Given the description of an element on the screen output the (x, y) to click on. 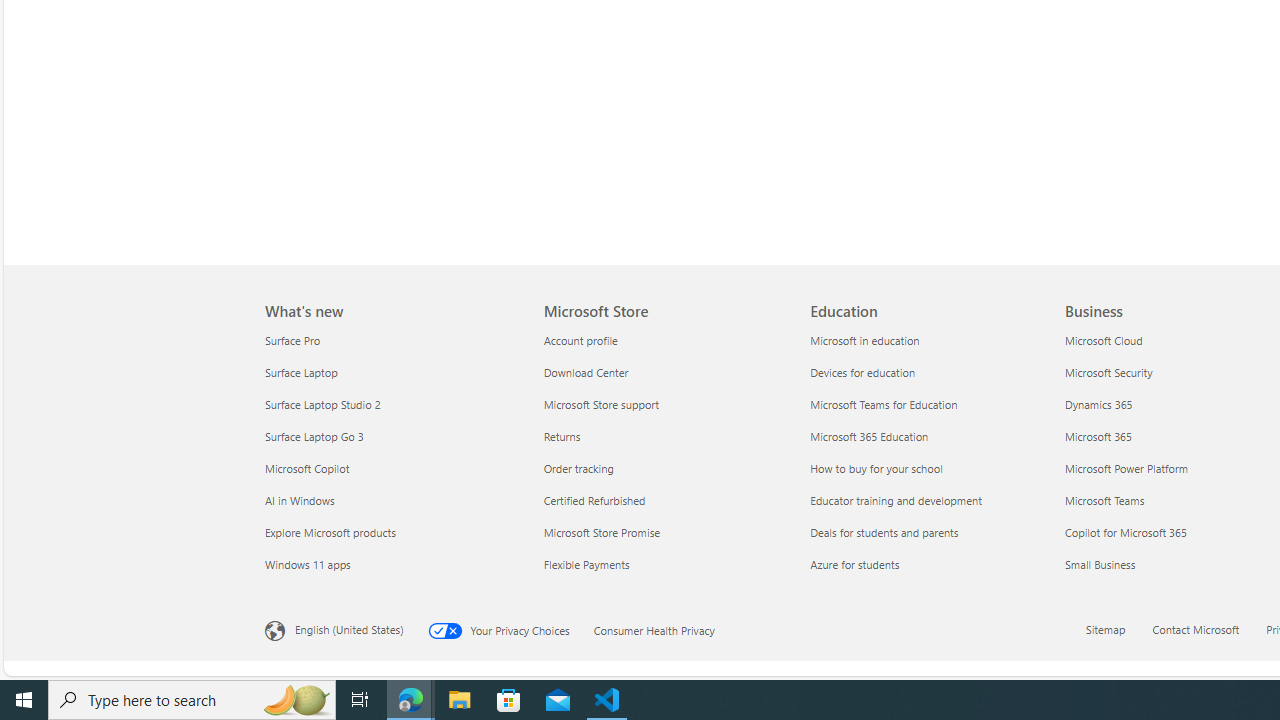
Windows 11 apps (391, 564)
Microsoft Copilot (391, 468)
AI in Windows What's new (299, 499)
Small Business Business (1099, 563)
Explore Microsoft products (391, 532)
Surface Laptop Studio 2 What's new (322, 403)
Azure for students (931, 564)
Certified Refurbished (664, 499)
Download Center Microsoft Store (585, 372)
How to buy for your school (931, 468)
Microsoft Teams for Education (931, 404)
Devices for education Education (863, 372)
Surface Pro (391, 340)
Certified Refurbished Microsoft Store (594, 499)
Microsoft Security Business (1108, 372)
